Given the description of an element on the screen output the (x, y) to click on. 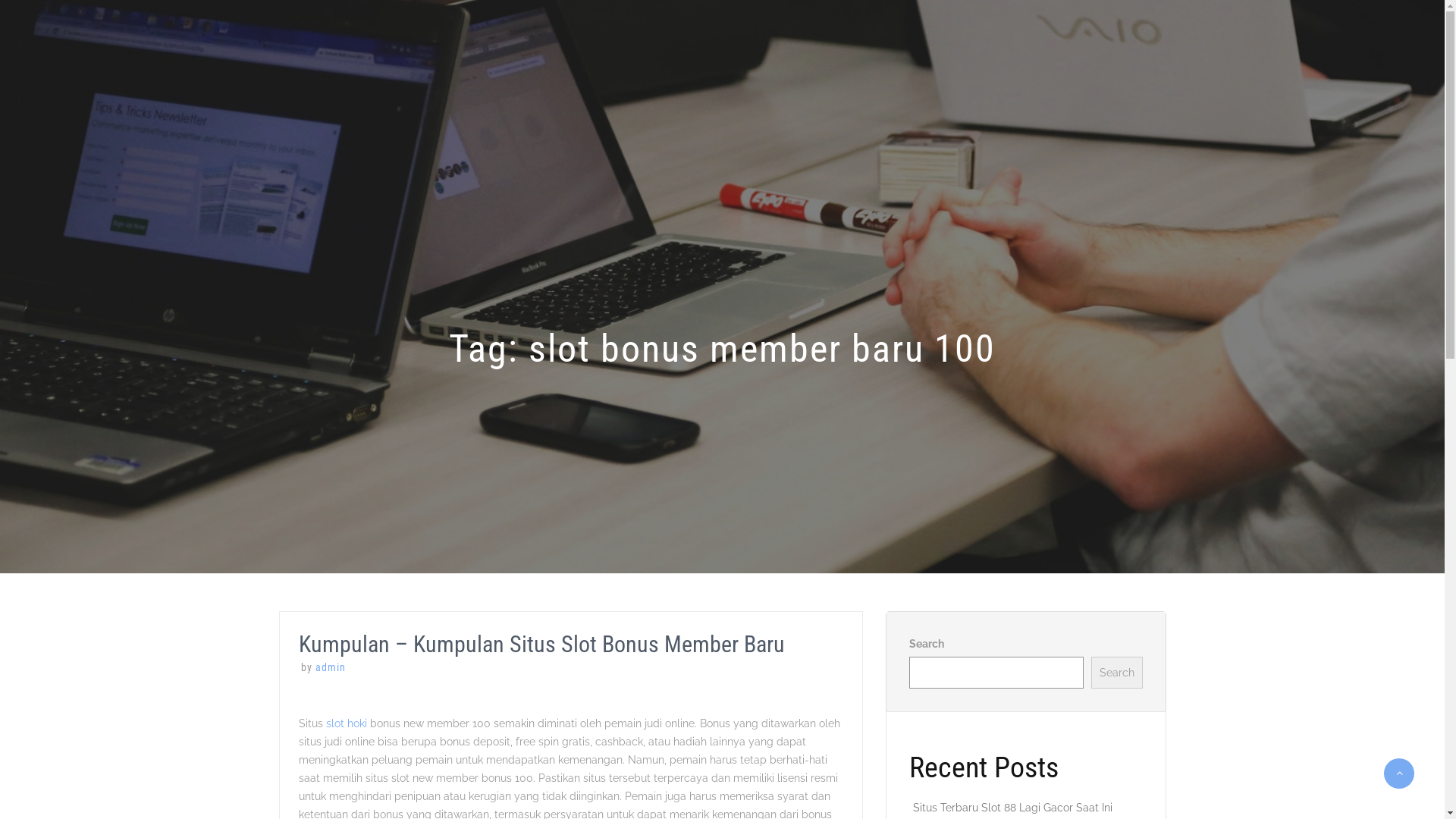
Situs Terbaru Slot 88 Lagi Gacor Saat Ini Element type: text (1027, 807)
Search Element type: text (1116, 672)
admin Element type: text (330, 667)
slot hoki Element type: text (346, 723)
